Given the description of an element on the screen output the (x, y) to click on. 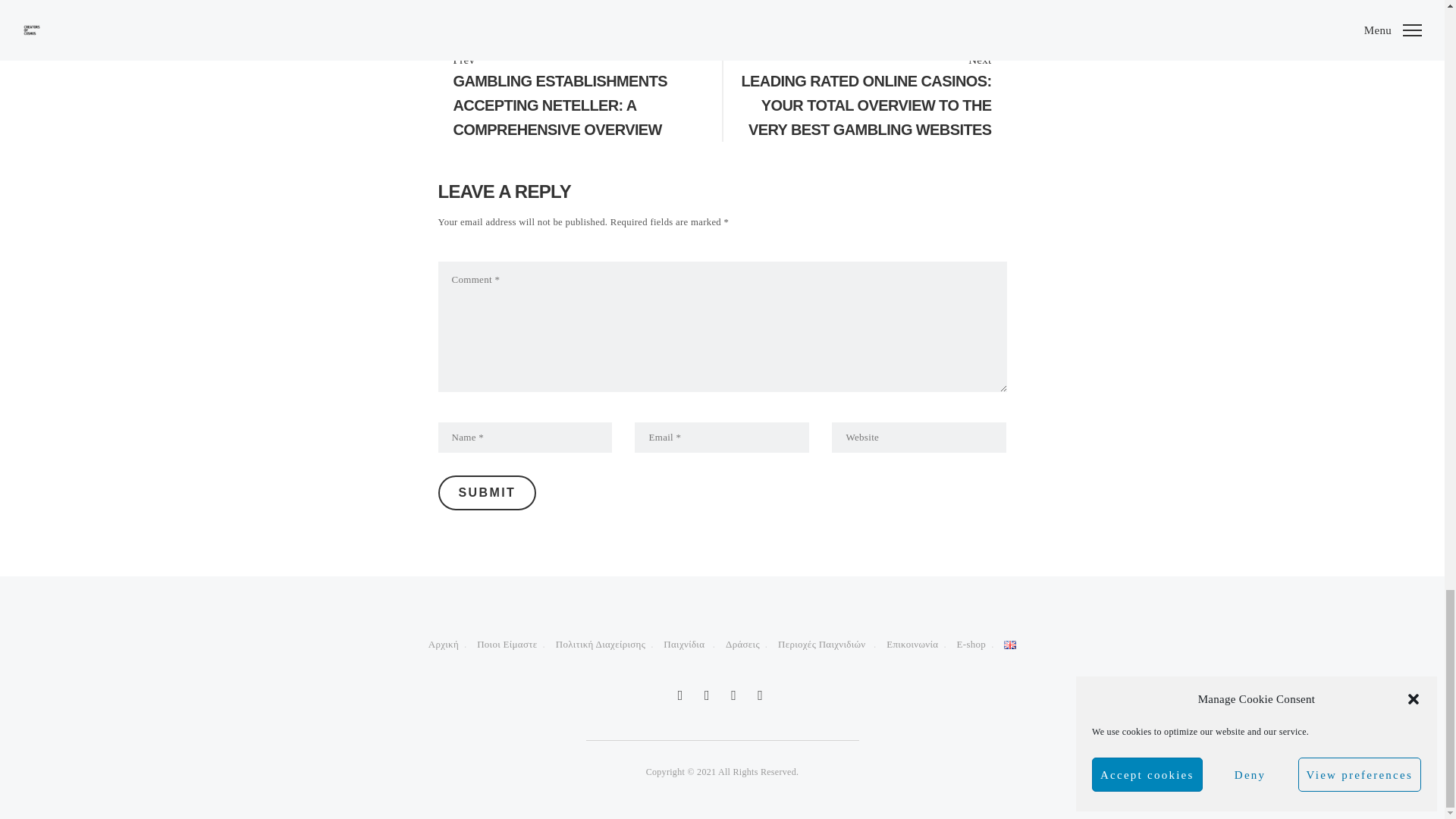
Submit (487, 492)
